Given the description of an element on the screen output the (x, y) to click on. 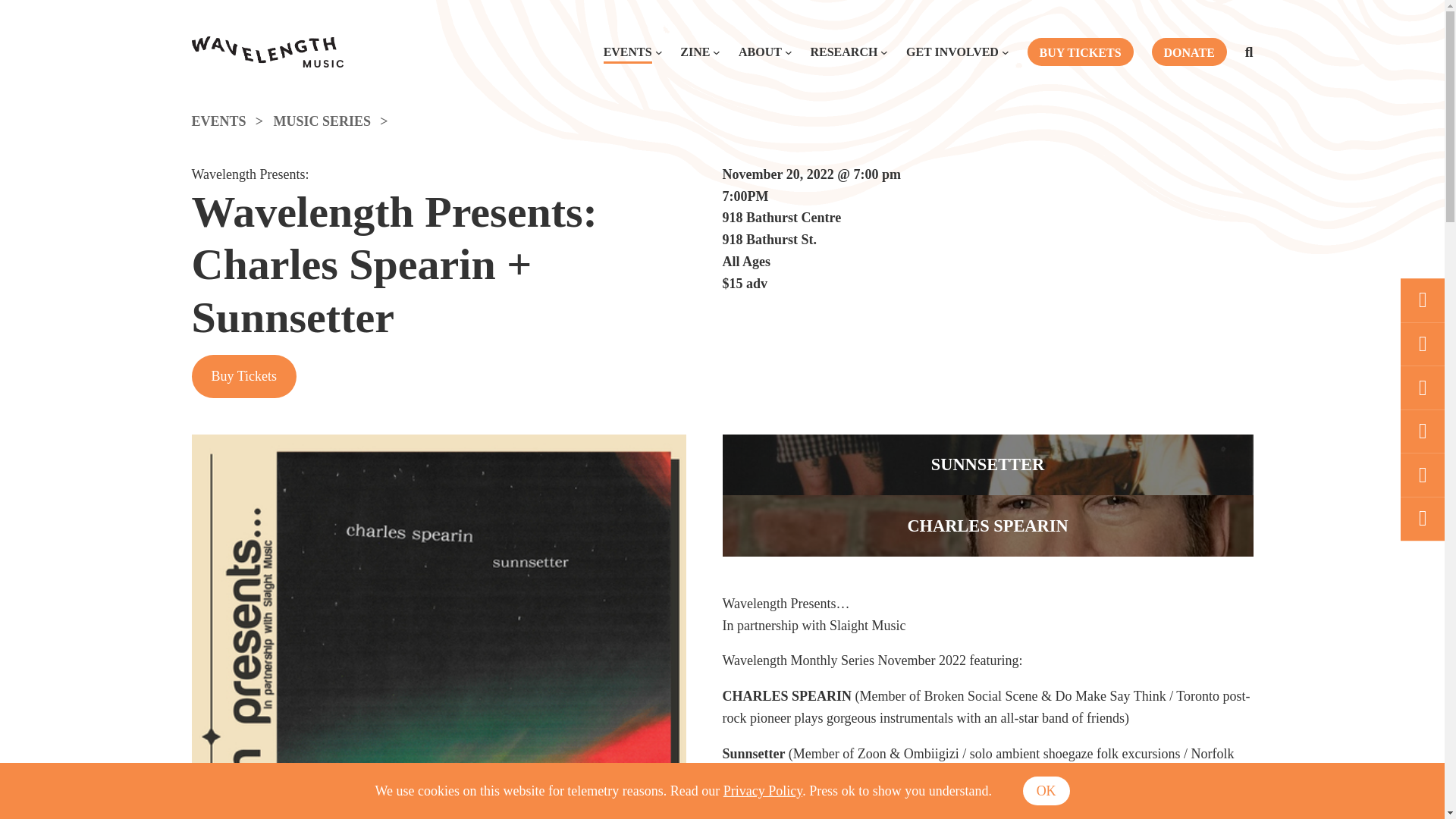
Music Series (335, 121)
RESEARCH (843, 52)
EVENTS (628, 52)
BUY TICKETS (1080, 51)
ABOUT (759, 52)
DONATE (1189, 51)
GET INVOLVED (951, 52)
Welcome to Wavelength Music (266, 51)
Buy Tickets (243, 376)
MUSIC SERIES (335, 121)
Visit Charles Spearin (987, 525)
Events (231, 121)
EVENTS (231, 121)
ZINE (694, 52)
Visit Sunnsetter (987, 465)
